Given the description of an element on the screen output the (x, y) to click on. 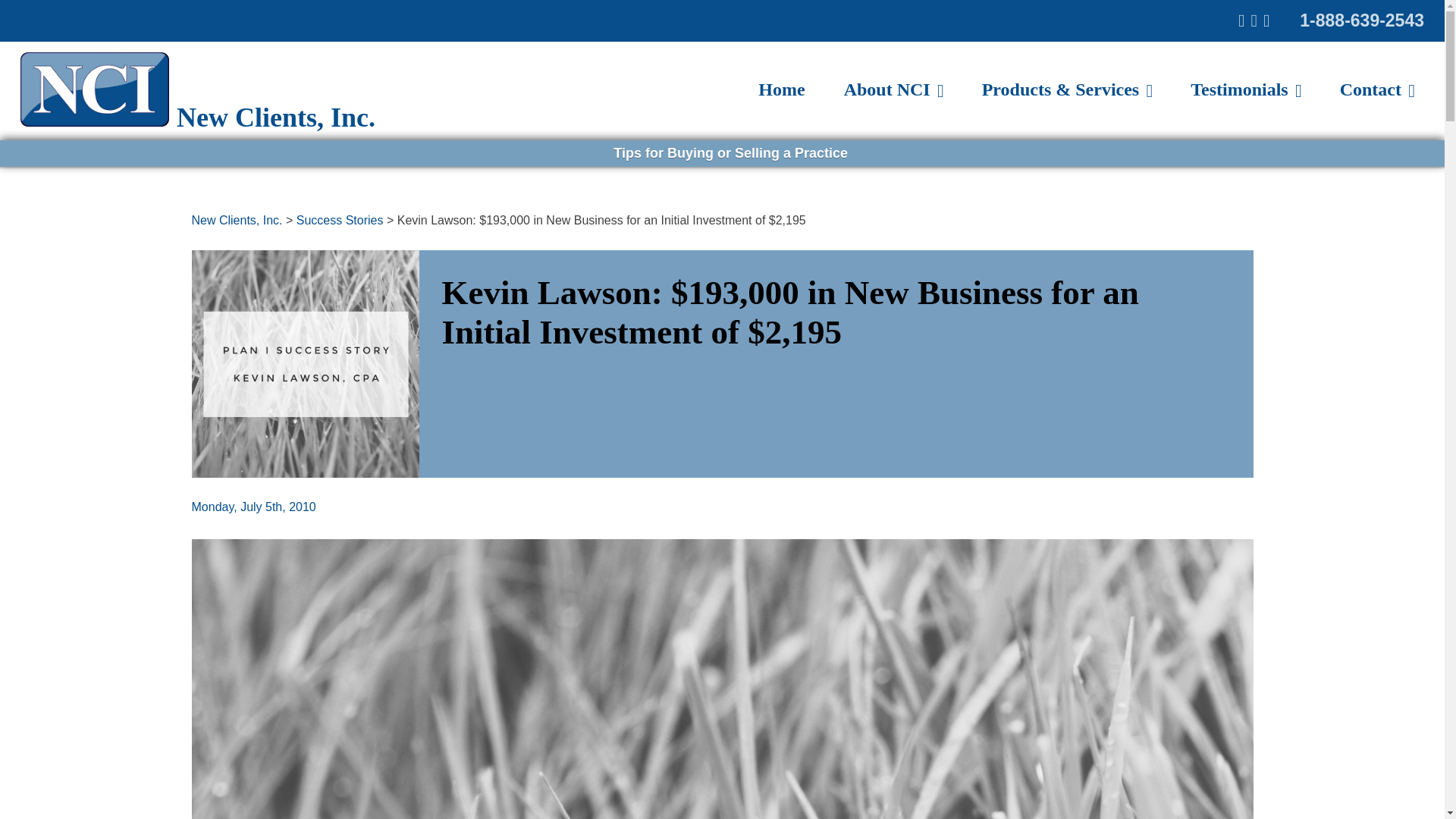
New Clients, Inc. (197, 117)
Home (780, 89)
Tips for Buying or Selling a Practice (728, 152)
1-888-639-2543 (1361, 20)
About NCI (893, 89)
Success Stories (340, 219)
New Clients, Inc. (236, 219)
Contact (1376, 89)
Testimonials (1245, 89)
